Given the description of an element on the screen output the (x, y) to click on. 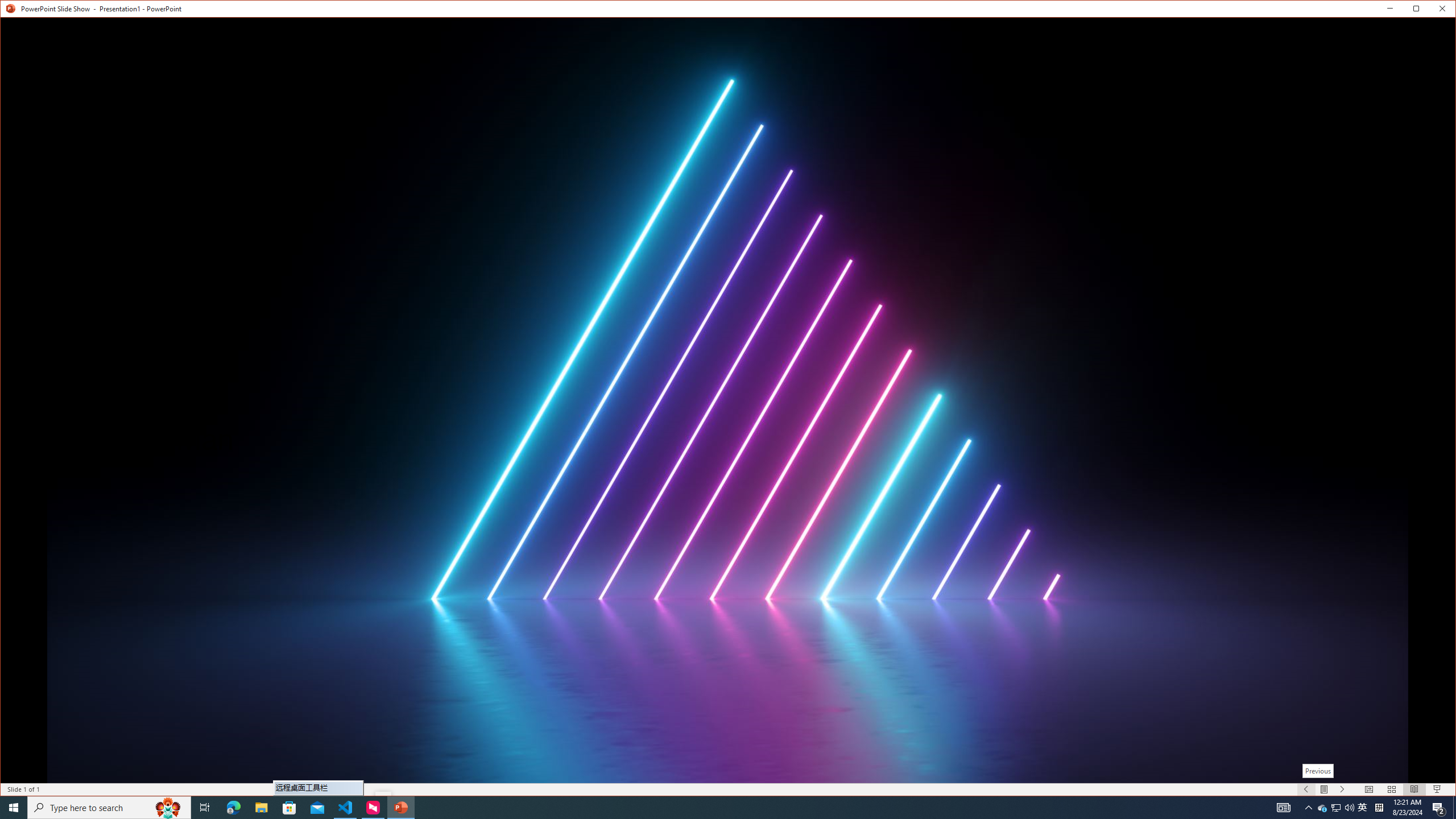
Start (13, 807)
User Promoted Notification Area (1336, 807)
Microsoft Edge (233, 807)
AutomationID: 4105 (1283, 807)
Show desktop (1454, 807)
File Explorer (261, 807)
Task View (204, 807)
Slide Show Next On (1335, 807)
Type here to search (1342, 789)
Visual Studio Code - 1 running window (108, 807)
Tray Input Indicator - Chinese (Simplified, China) (345, 807)
